Given the description of an element on the screen output the (x, y) to click on. 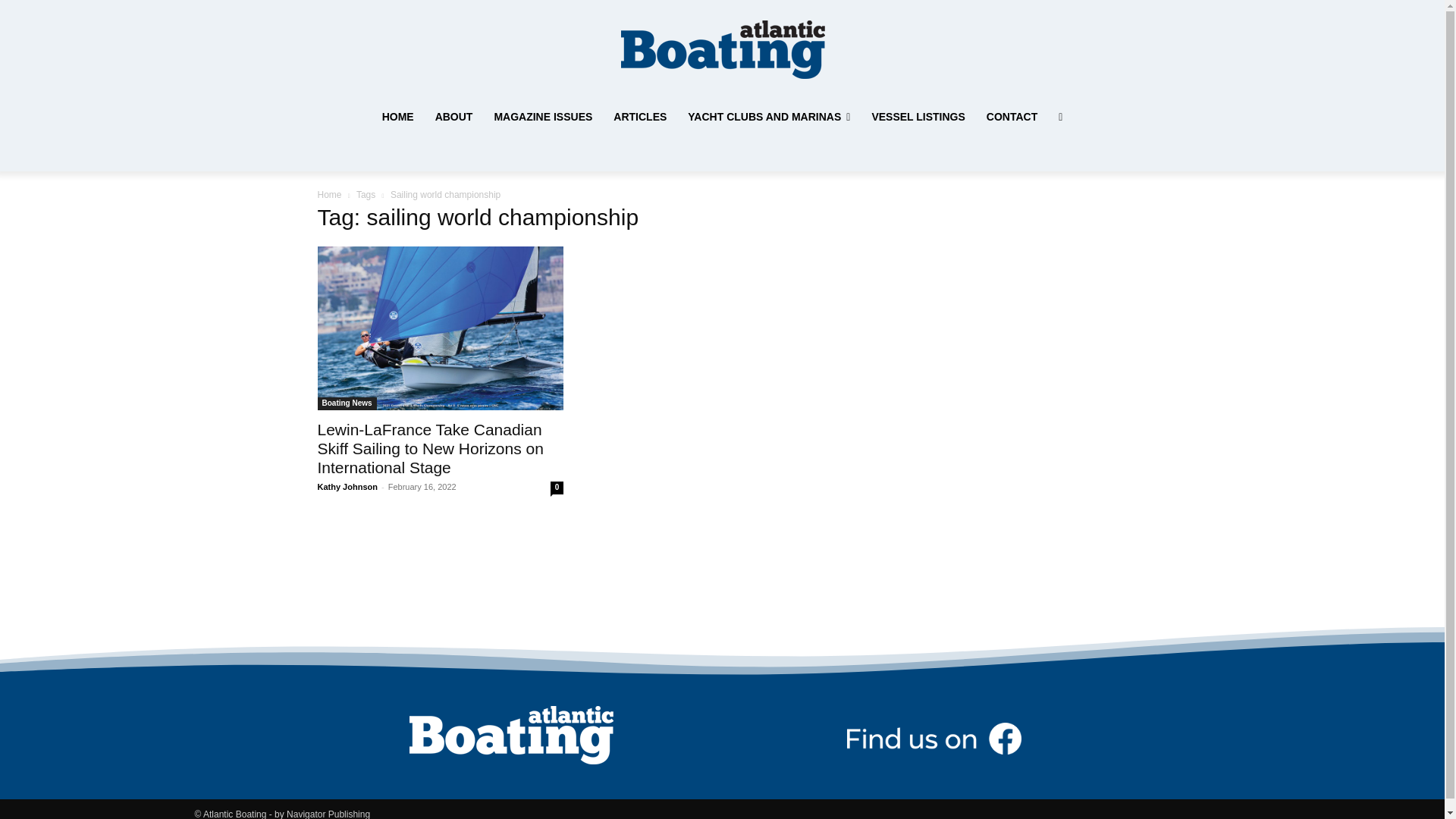
VESSEL LISTINGS (917, 116)
Kathy Johnson (347, 486)
CONTACT (1011, 116)
Home (328, 194)
ABOUT (454, 116)
ARTICLES (639, 116)
HOME (398, 116)
